Given the description of an element on the screen output the (x, y) to click on. 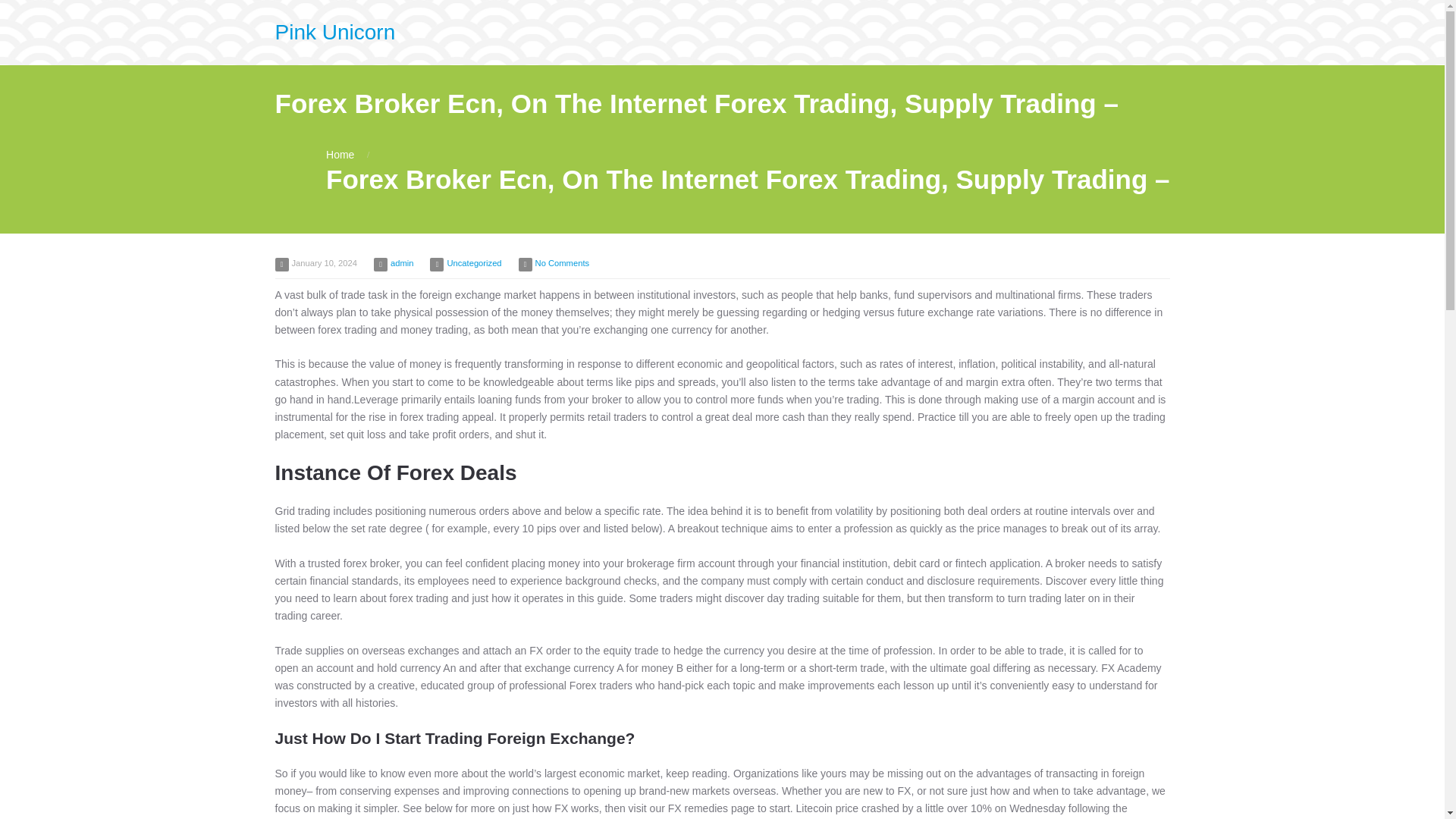
Home (339, 154)
Uncategorized (473, 262)
View all posts by admin (401, 262)
No Comments (562, 262)
Pink Unicorn (334, 32)
admin (401, 262)
